Given the description of an element on the screen output the (x, y) to click on. 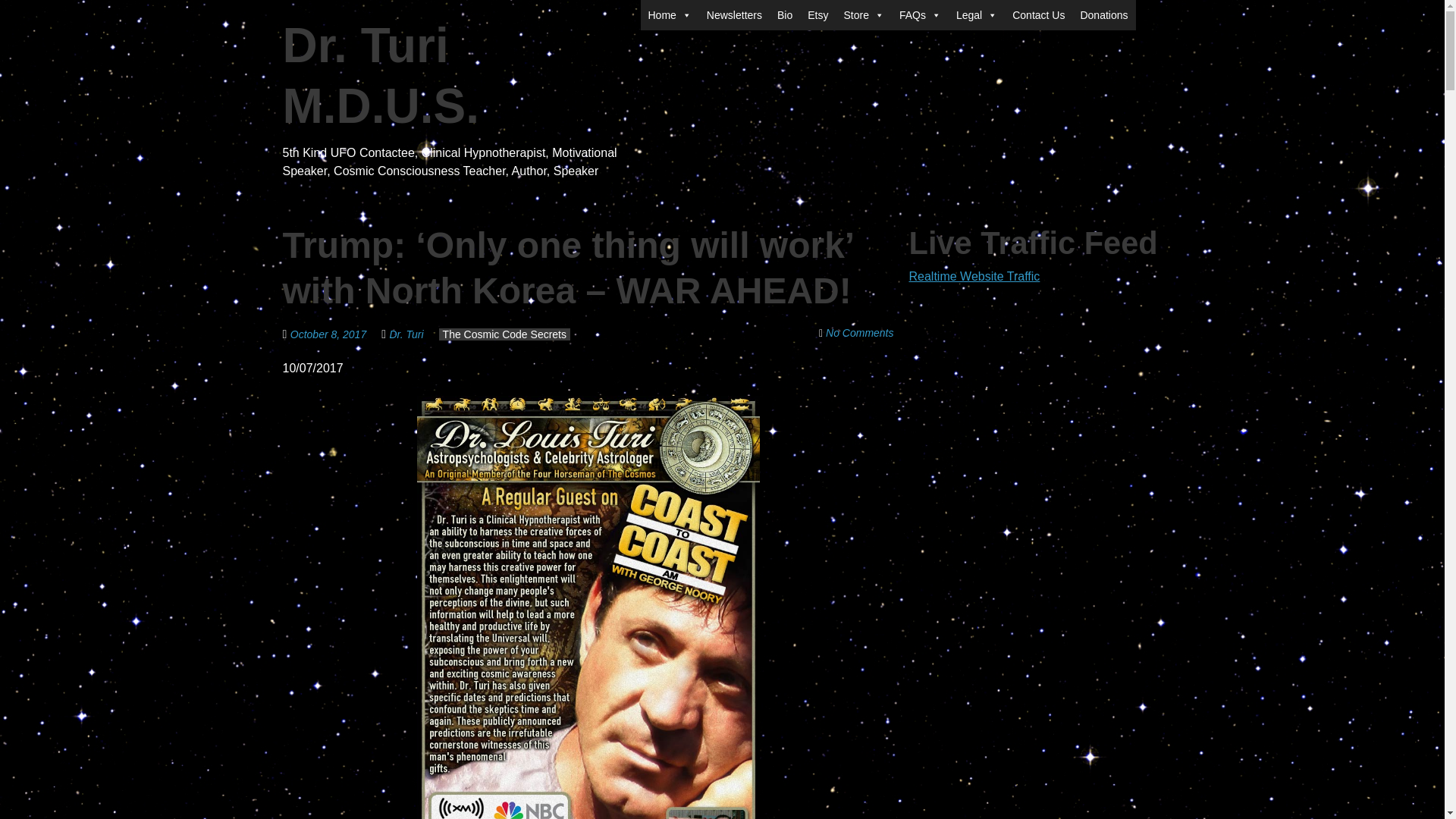
Newsletters (734, 15)
Skip to content (680, 9)
Store (863, 15)
Bio (784, 15)
Skip to content (680, 9)
Home (669, 15)
Etsy (817, 15)
Dr. Turi M.D.U.S. (380, 75)
